Given the description of an element on the screen output the (x, y) to click on. 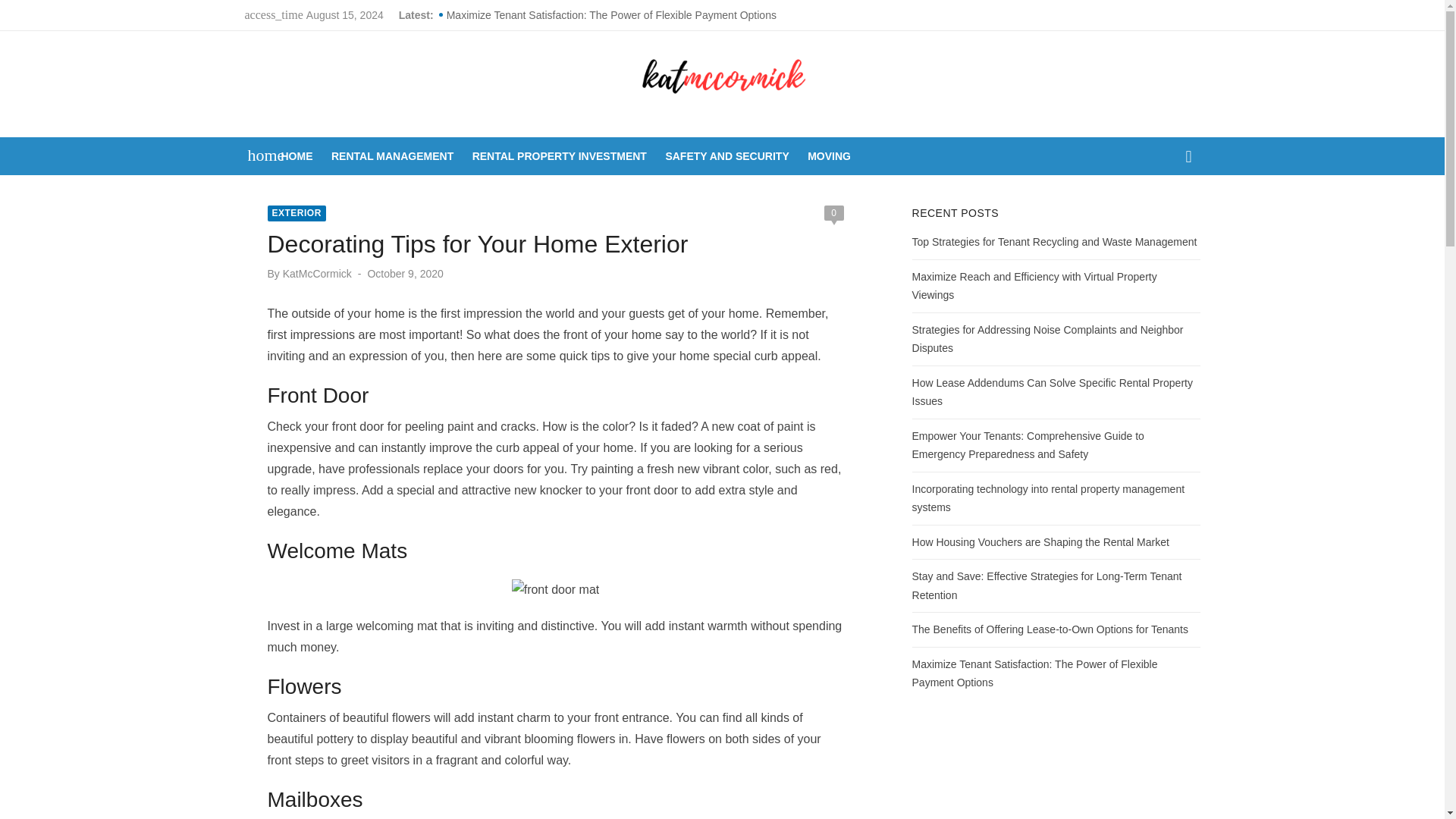
Maximize Reach and Efficiency with Virtual Property Viewings (1034, 285)
SAFETY AND SECURITY (727, 156)
0 (833, 212)
RENTAL MANAGEMENT (393, 156)
MOVING (829, 156)
KatMcCormick (317, 273)
Top Strategies for Tenant Recycling and Waste Management (1054, 241)
home (258, 154)
